Given the description of an element on the screen output the (x, y) to click on. 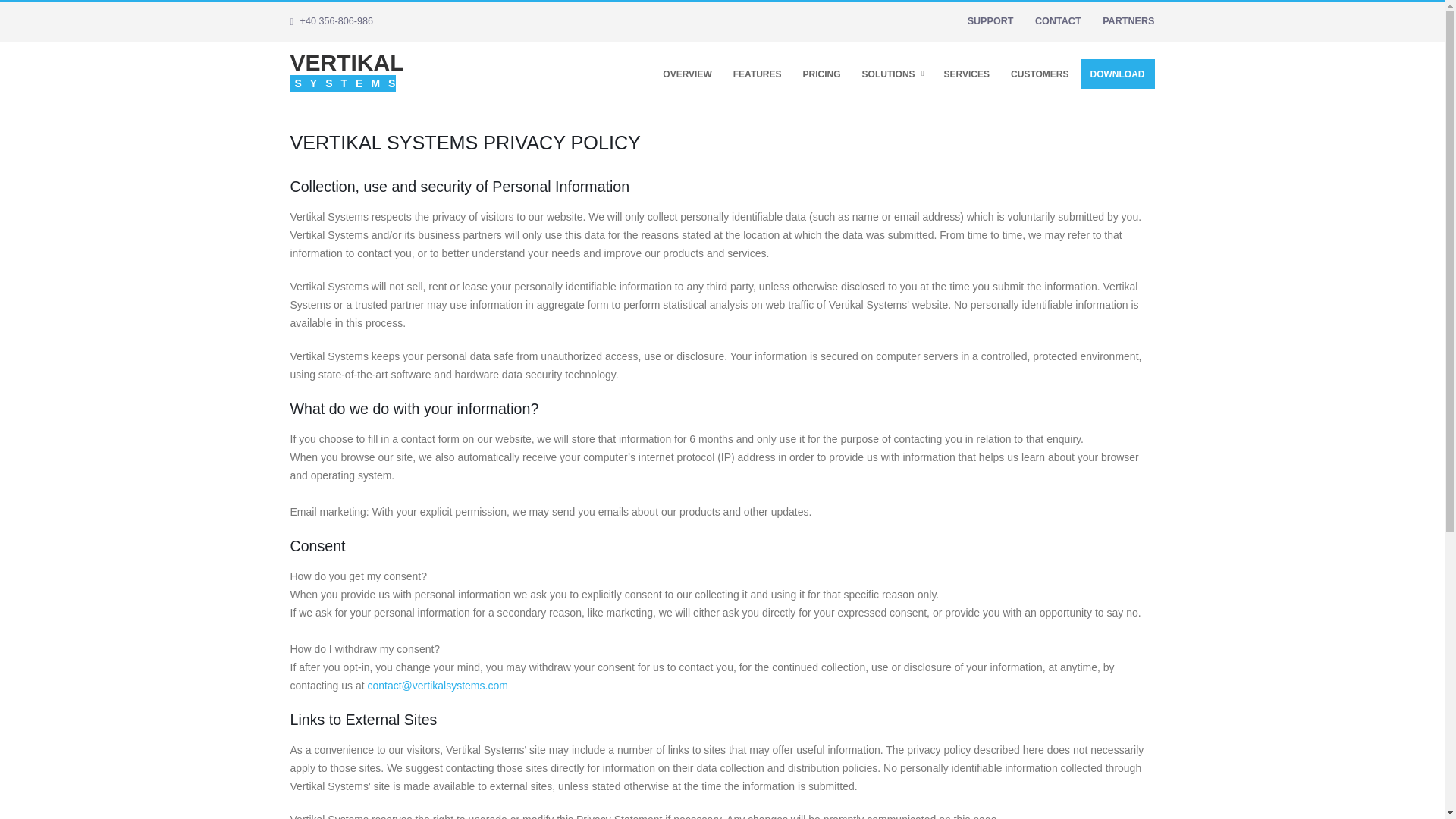
PRICING (821, 73)
SUPPORT (982, 20)
DOWNLOAD (1117, 73)
SOLUTIONS (892, 73)
CONTACT (1050, 20)
SERVICES (966, 73)
FEATURES (757, 73)
OVERVIEW (686, 73)
CUSTOMERS (1039, 73)
PARTNERS (1120, 20)
